Given the description of an element on the screen output the (x, y) to click on. 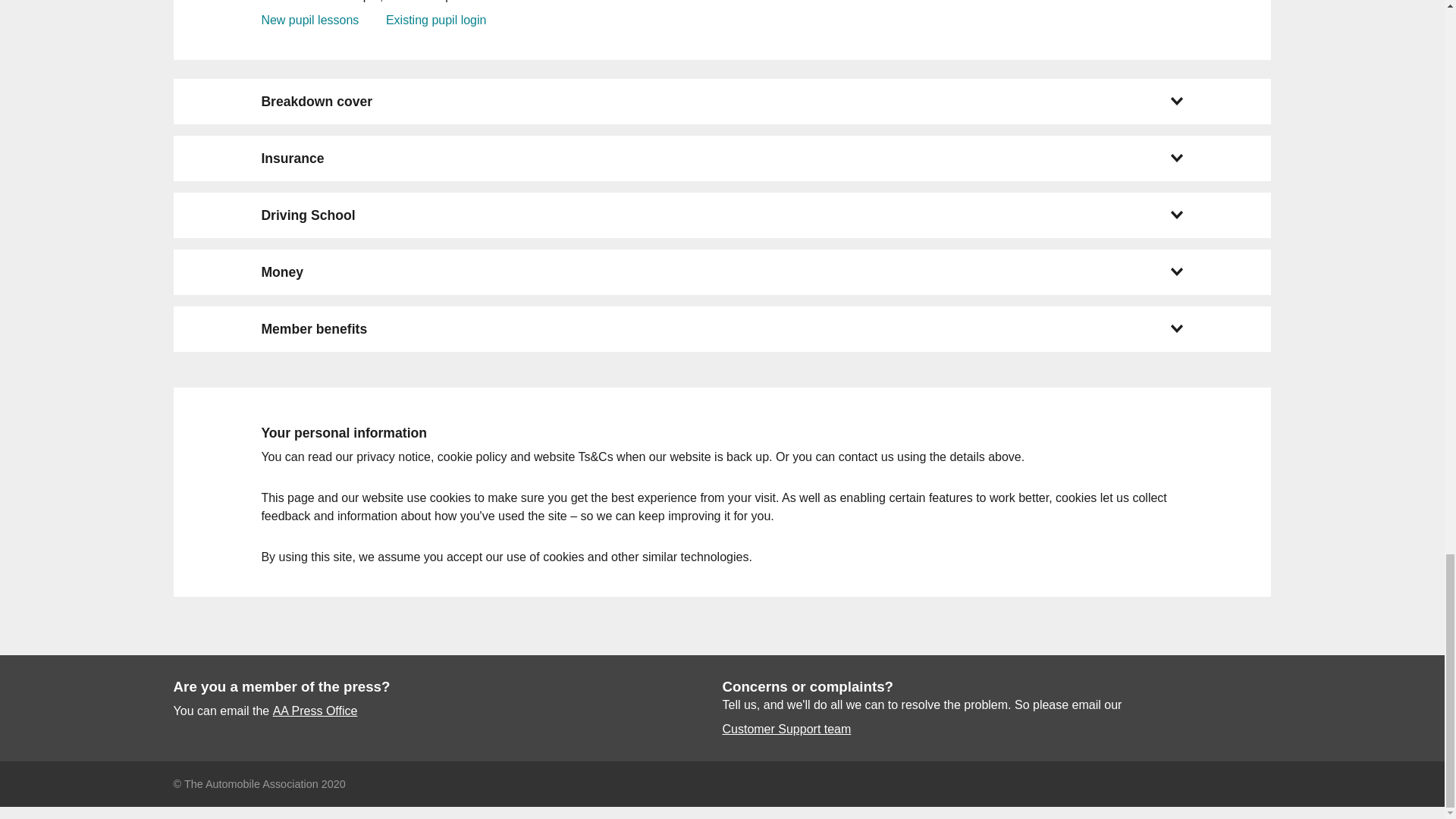
Existing pupil login (435, 20)
Customer Support team (786, 729)
New pupil lessons (309, 20)
AA Press Office (315, 710)
